Given the description of an element on the screen output the (x, y) to click on. 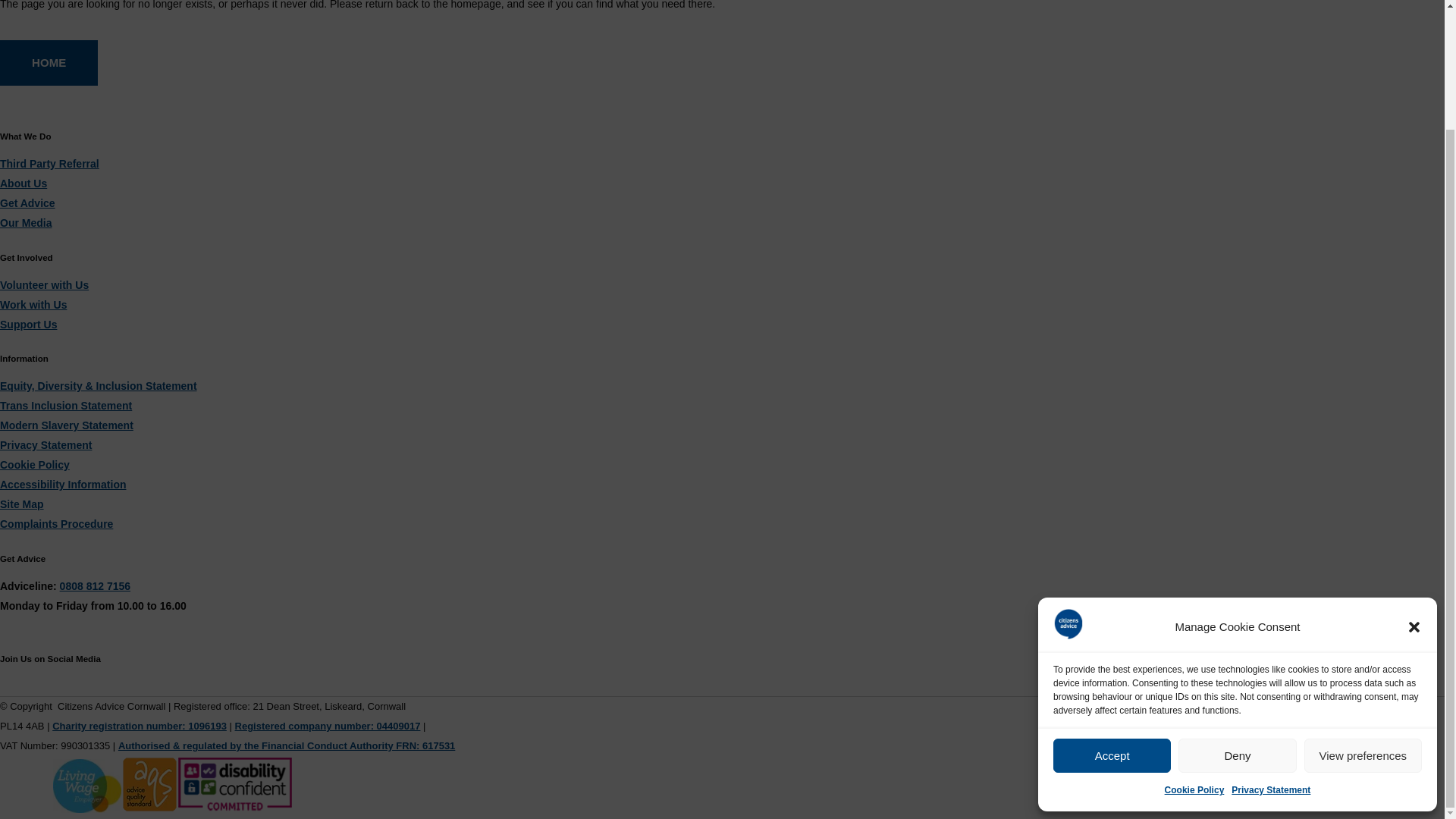
Cookie Policy (1194, 646)
Deny (1236, 612)
Privacy Statement (1270, 646)
Accept (1111, 612)
View preferences (1363, 612)
